Given the description of an element on the screen output the (x, y) to click on. 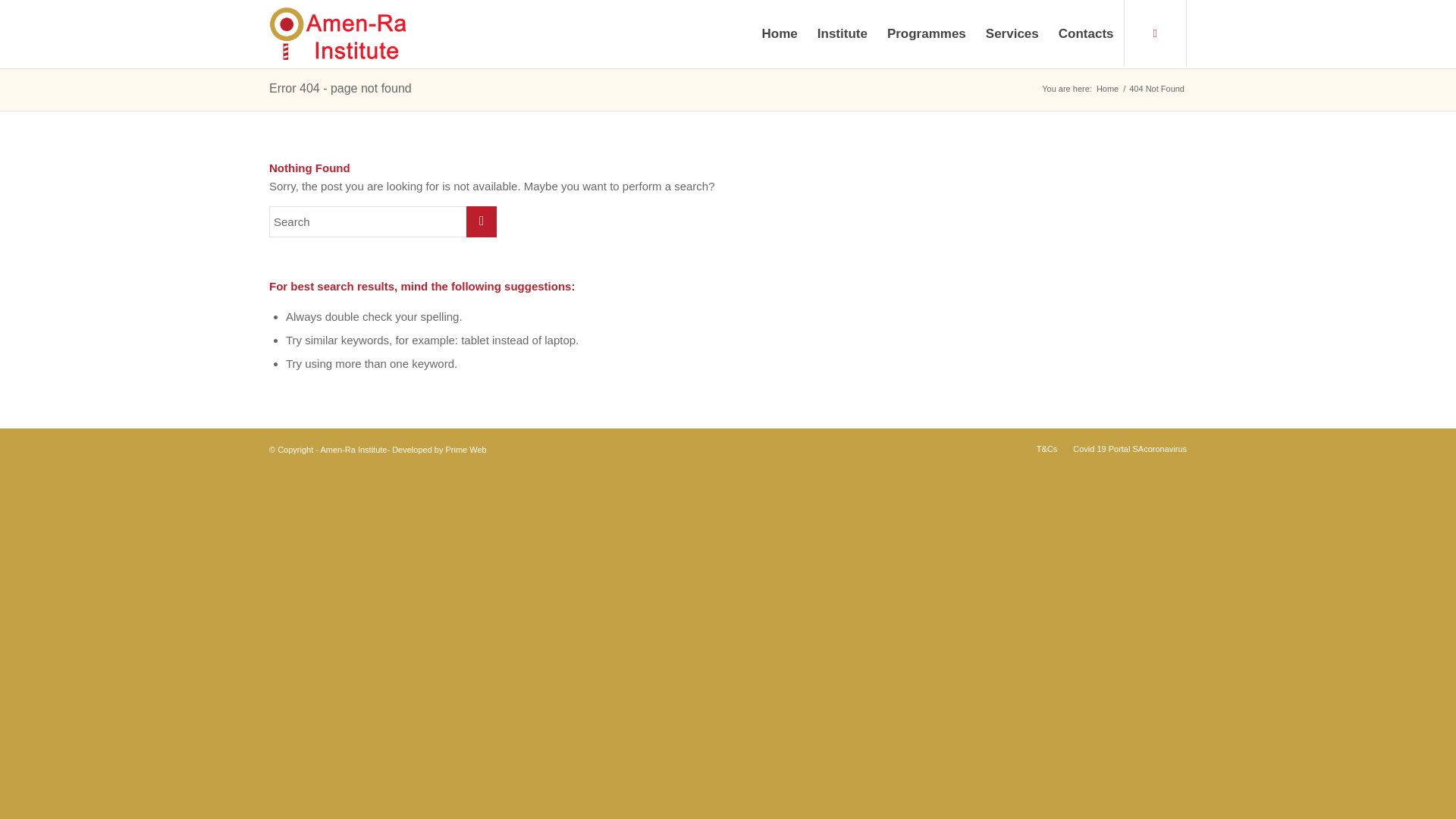
Institute (842, 33)
Contacts (1086, 33)
Developed by Prime Web (438, 449)
Amen-Ra (1107, 89)
Services (1011, 33)
Programmes (926, 33)
Home (1107, 89)
Covid 19 Portal SAcoronavirus (1129, 448)
